Given the description of an element on the screen output the (x, y) to click on. 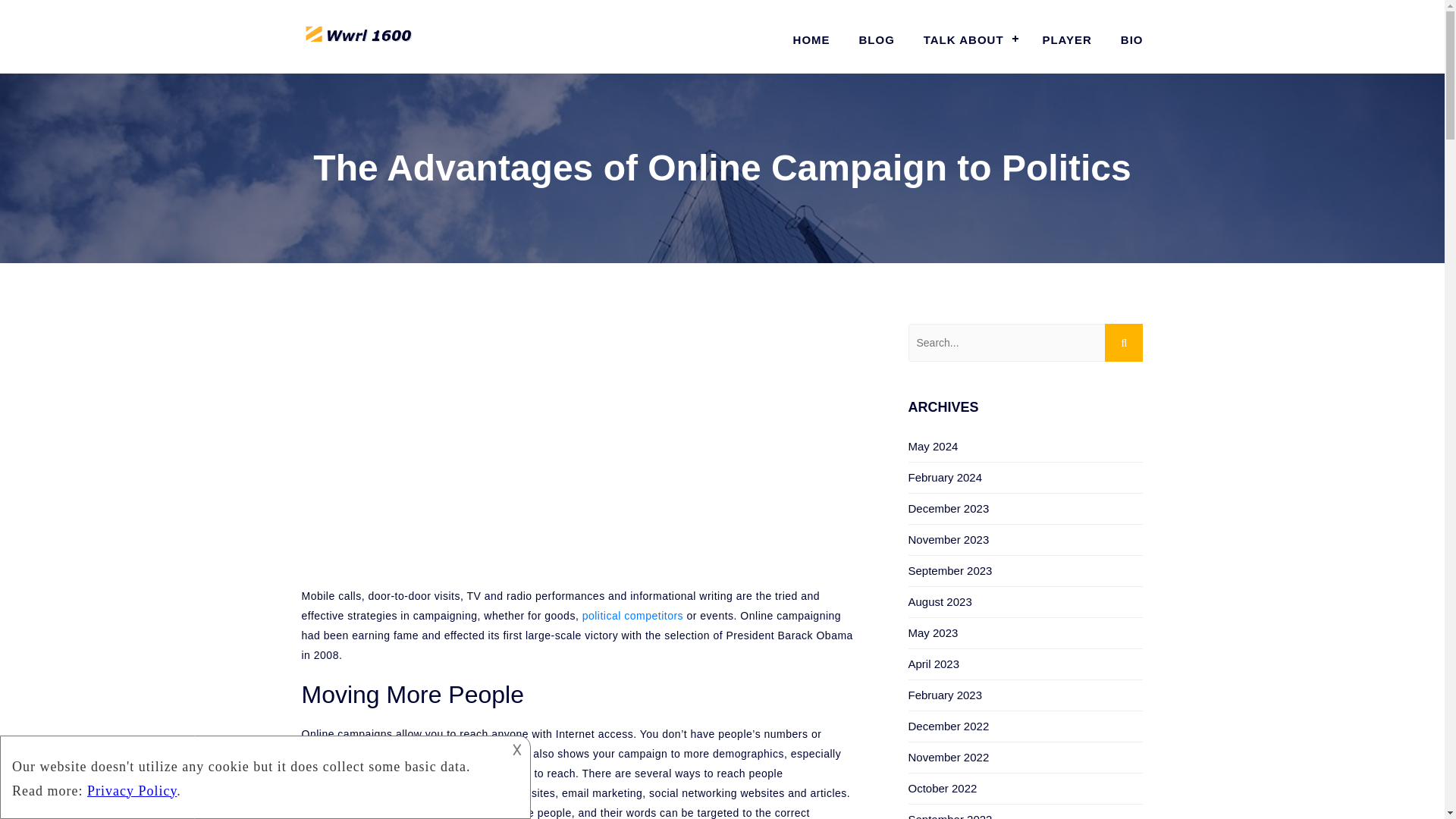
December 2023 (949, 508)
May 2023 (933, 632)
HOME (811, 39)
TALK ABOUT (968, 39)
BIO (1125, 39)
August 2023 (940, 601)
BLOG (876, 39)
November 2023 (949, 539)
November 2022 (949, 757)
6 Rules In Creating Political Art (632, 615)
